Given the description of an element on the screen output the (x, y) to click on. 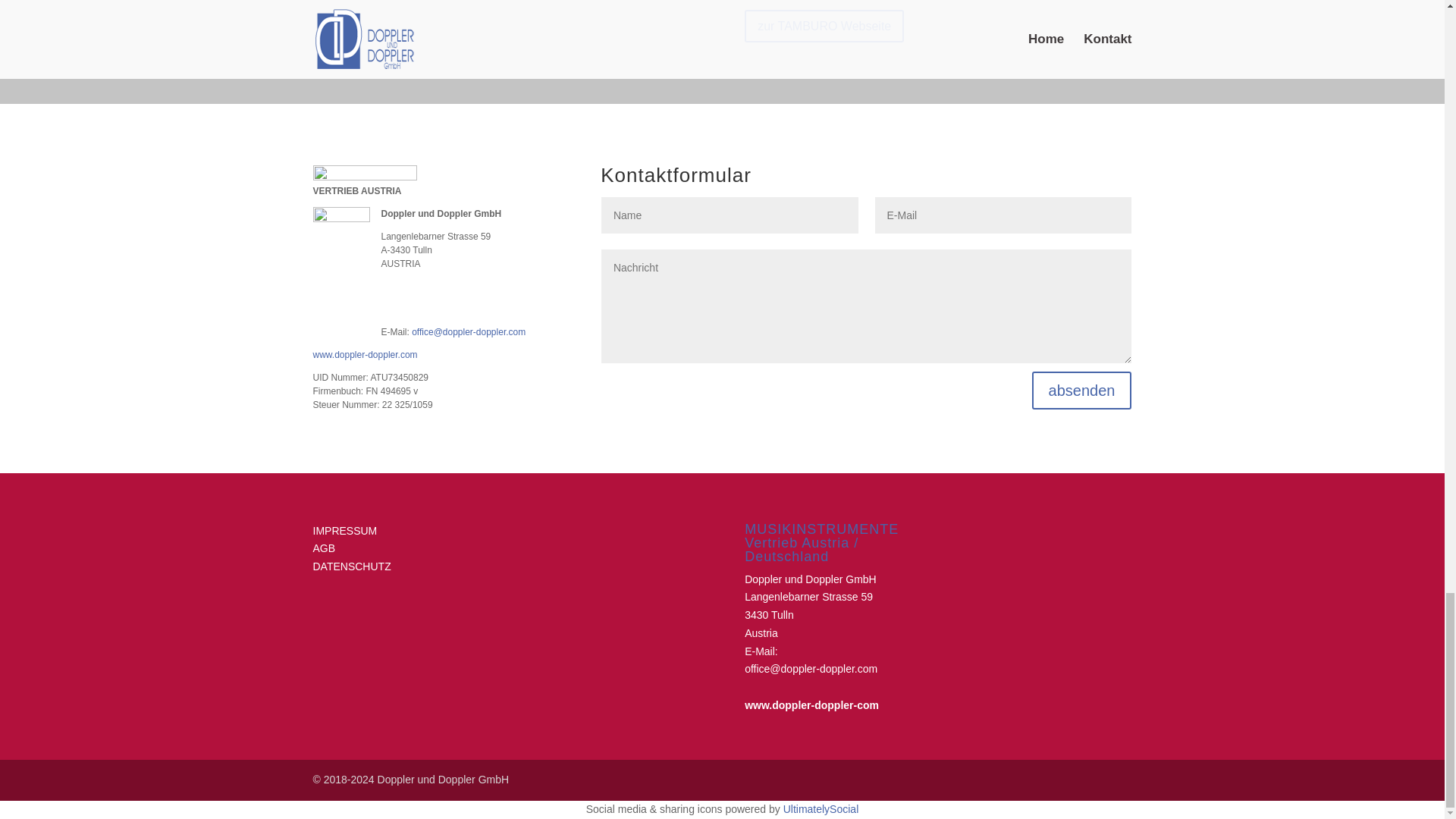
DATENSCHUTZ (351, 566)
IMPRESSUM (345, 530)
zur TAMBURO Webseite (824, 25)
absenden (1082, 390)
www.doppler-doppler.com (364, 354)
www.doppler-doppler-com (811, 714)
UltimatelySocial (821, 808)
und (793, 578)
AGB (323, 548)
